Given the description of an element on the screen output the (x, y) to click on. 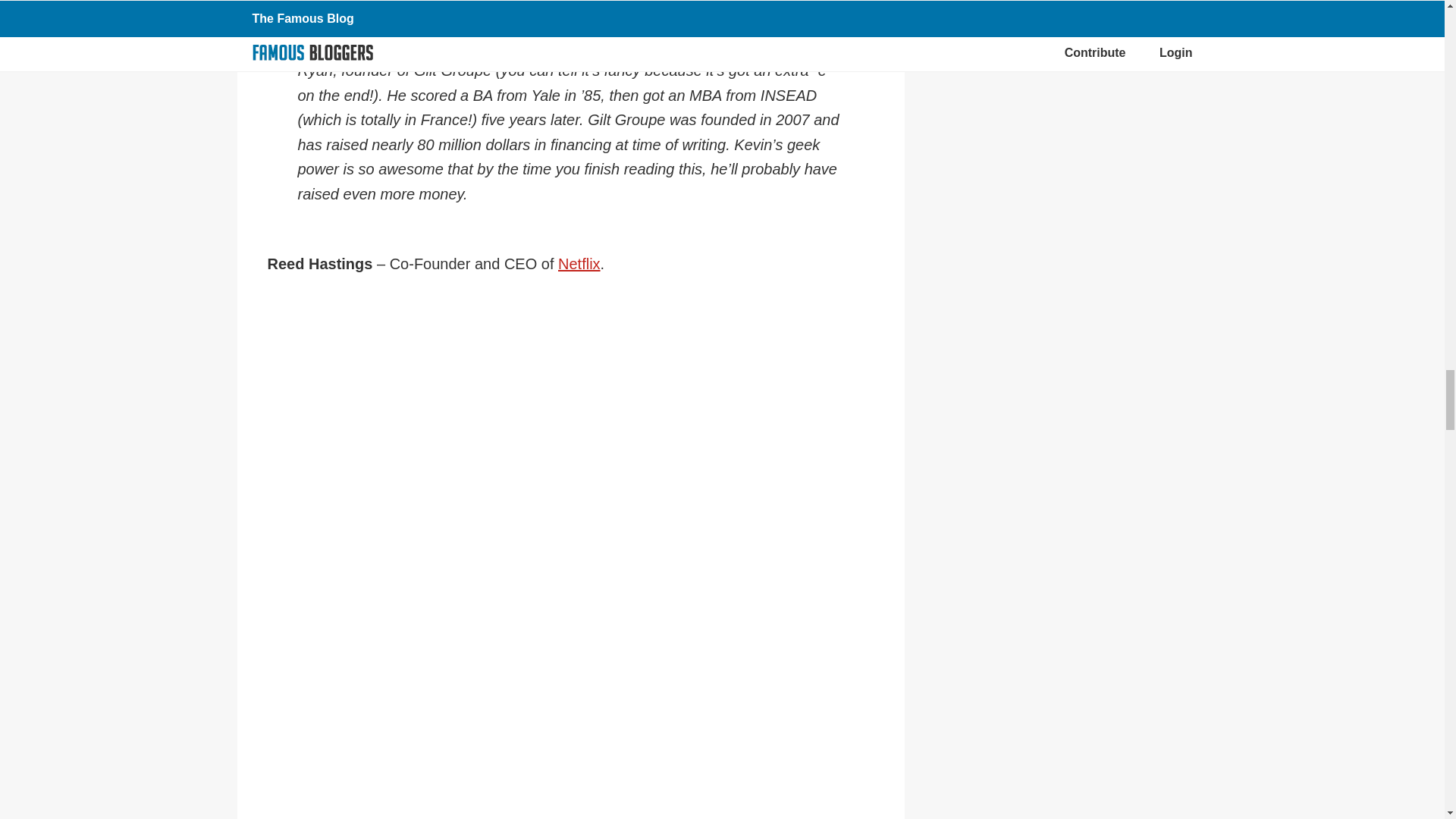
Netflix (578, 263)
